Given the description of an element on the screen output the (x, y) to click on. 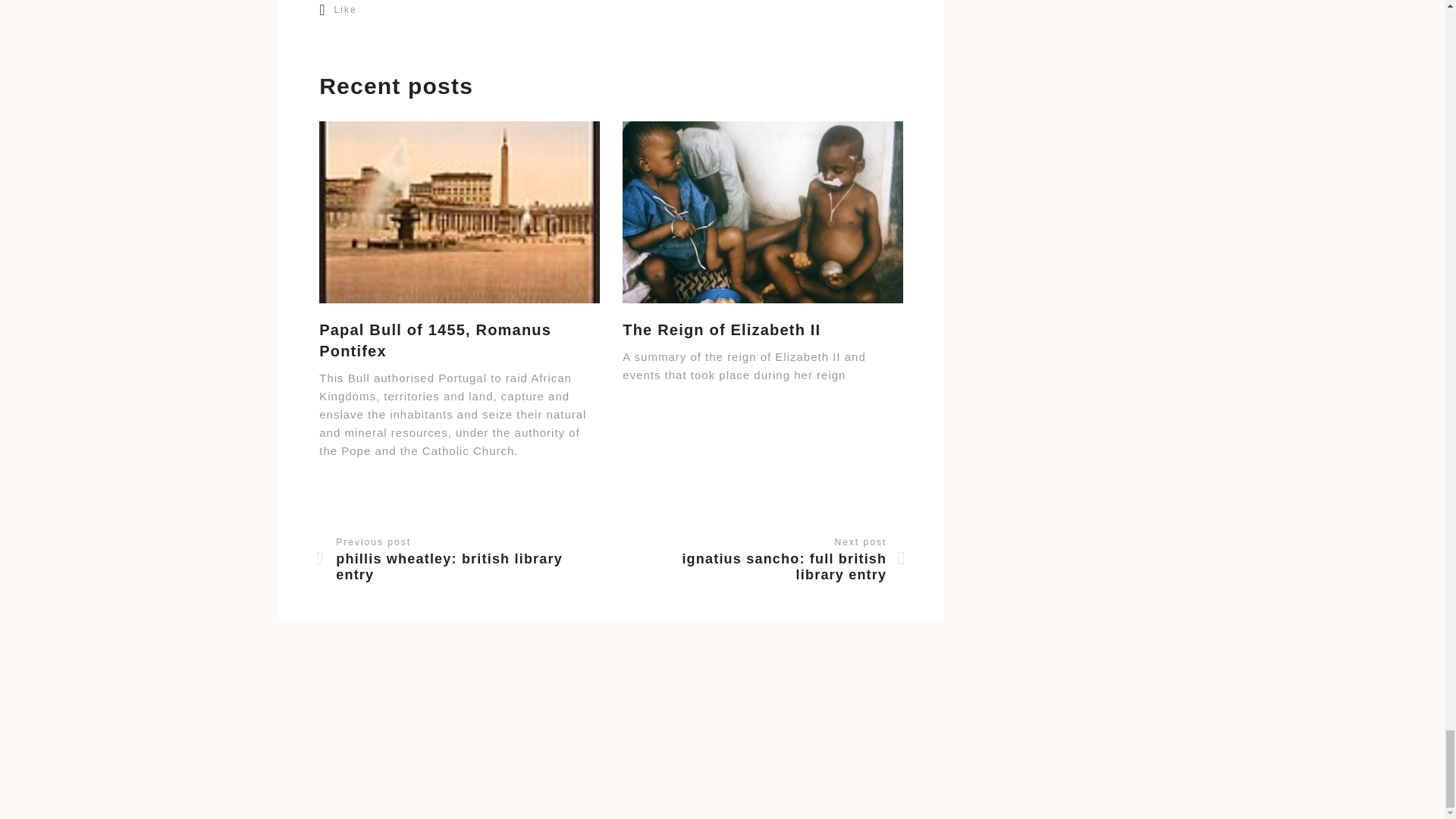
ignatius sancho: full british library entry (763, 567)
Papal Bull of 1455, Romanus Pontifex (458, 340)
The Reign of Elizabeth II (722, 329)
phillis wheatley: british library entry (458, 567)
